Given the description of an element on the screen output the (x, y) to click on. 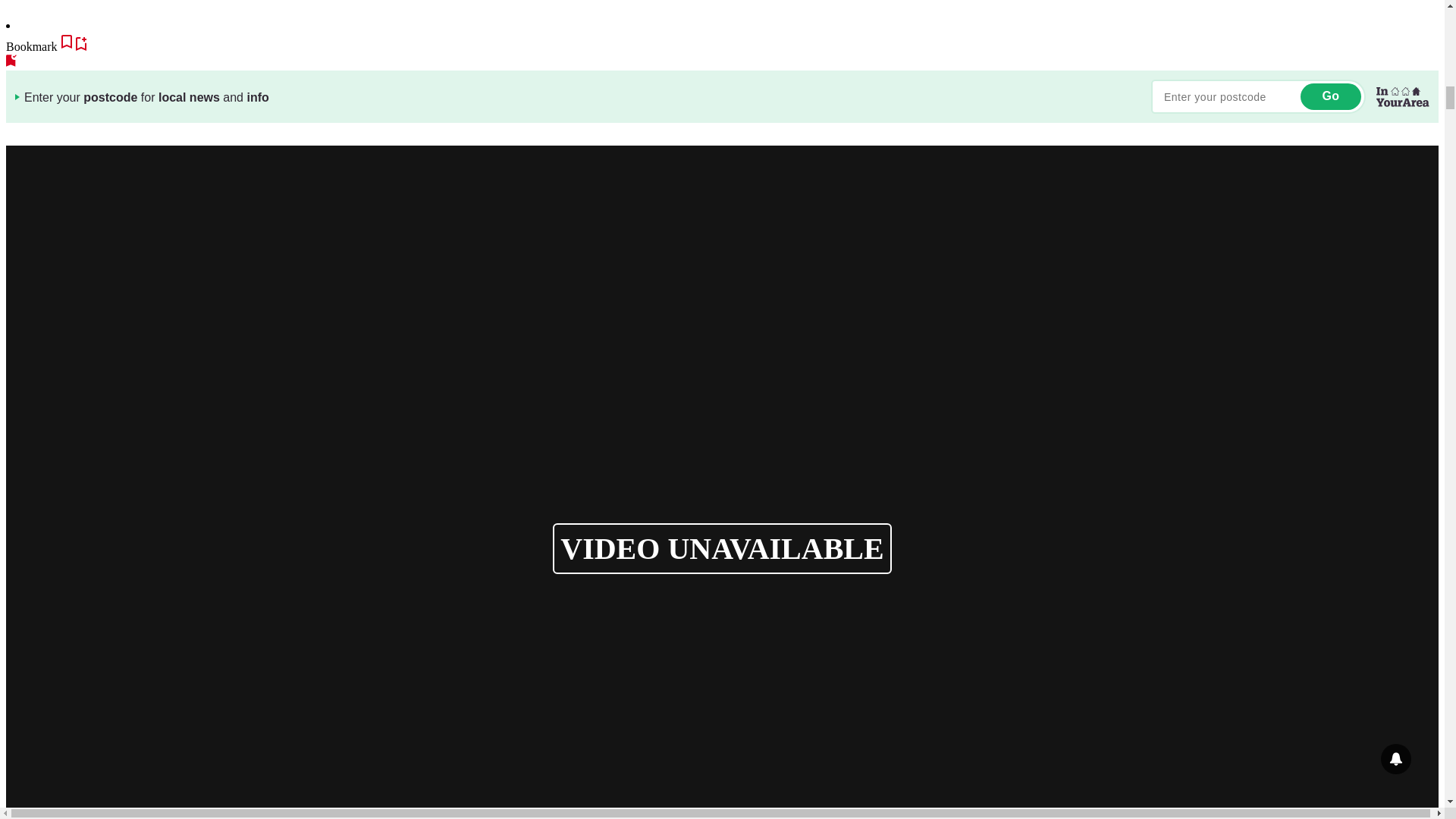
Go (1330, 96)
